Given the description of an element on the screen output the (x, y) to click on. 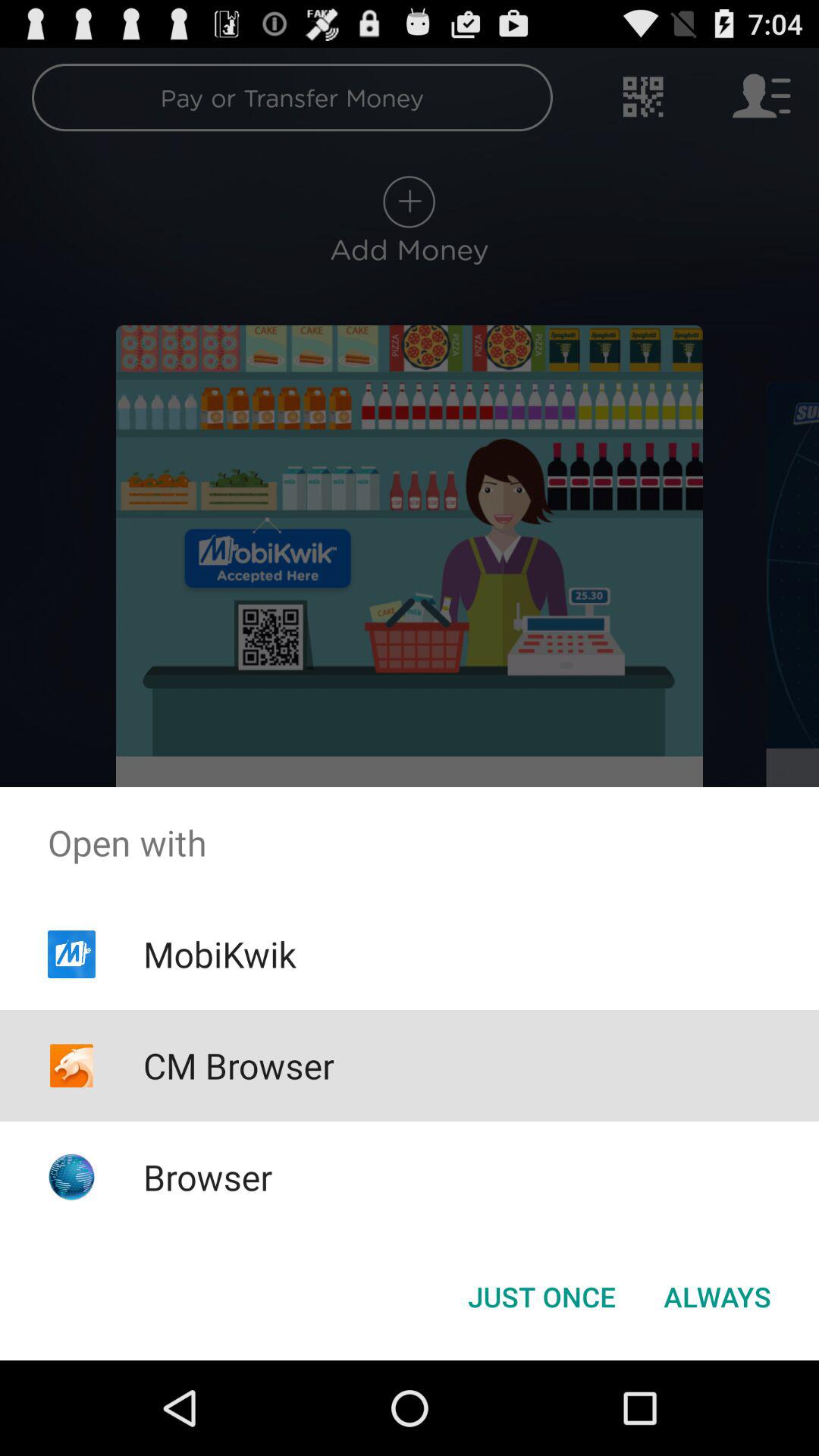
click button at the bottom (541, 1296)
